Given the description of an element on the screen output the (x, y) to click on. 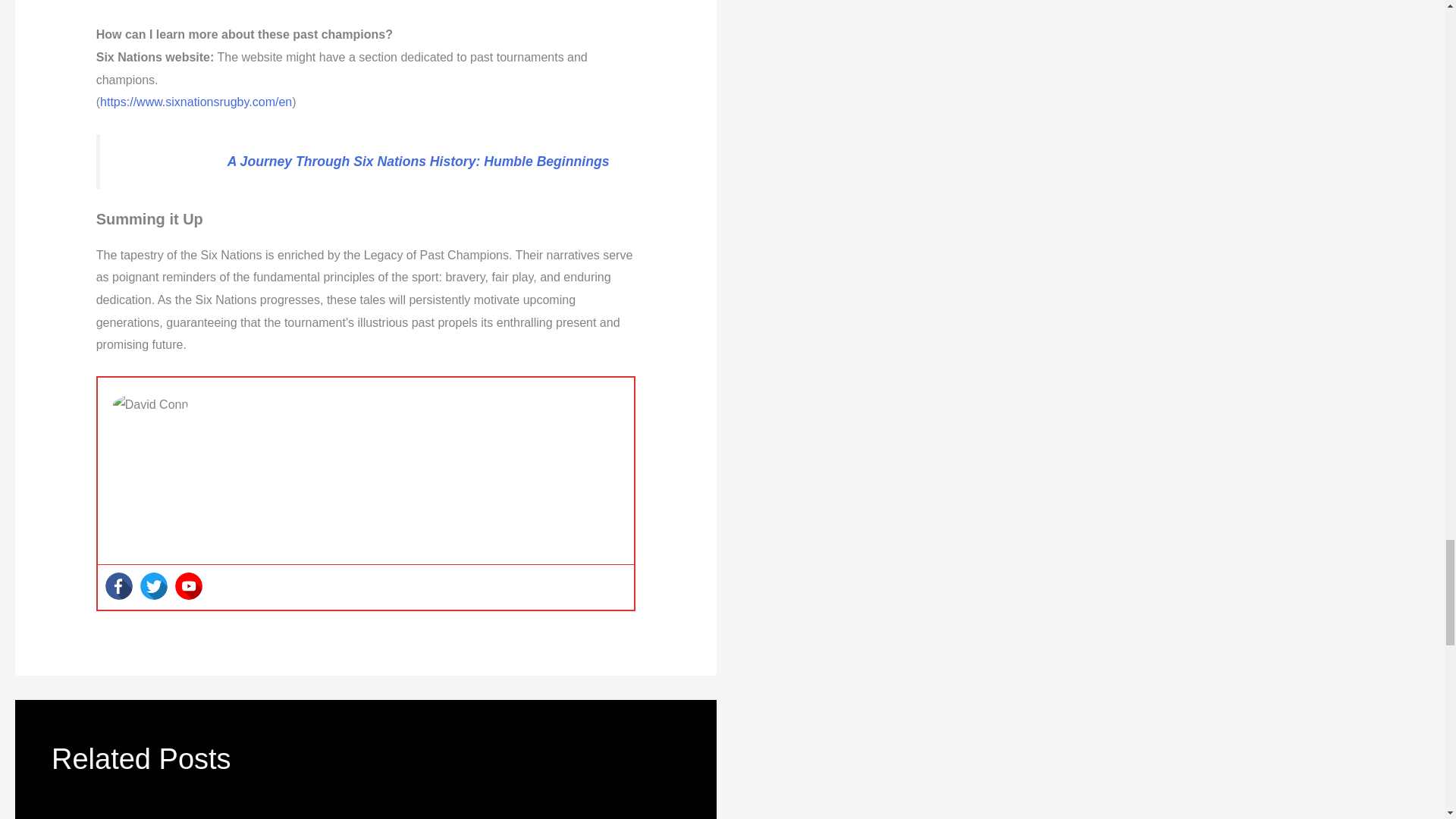
David Conn (250, 403)
thesportingden.com (576, 542)
Facebook (118, 585)
A Journey Through Six Nations History: Humble Beginnings (418, 160)
Twitter (153, 585)
Youtube (188, 585)
